Given the description of an element on the screen output the (x, y) to click on. 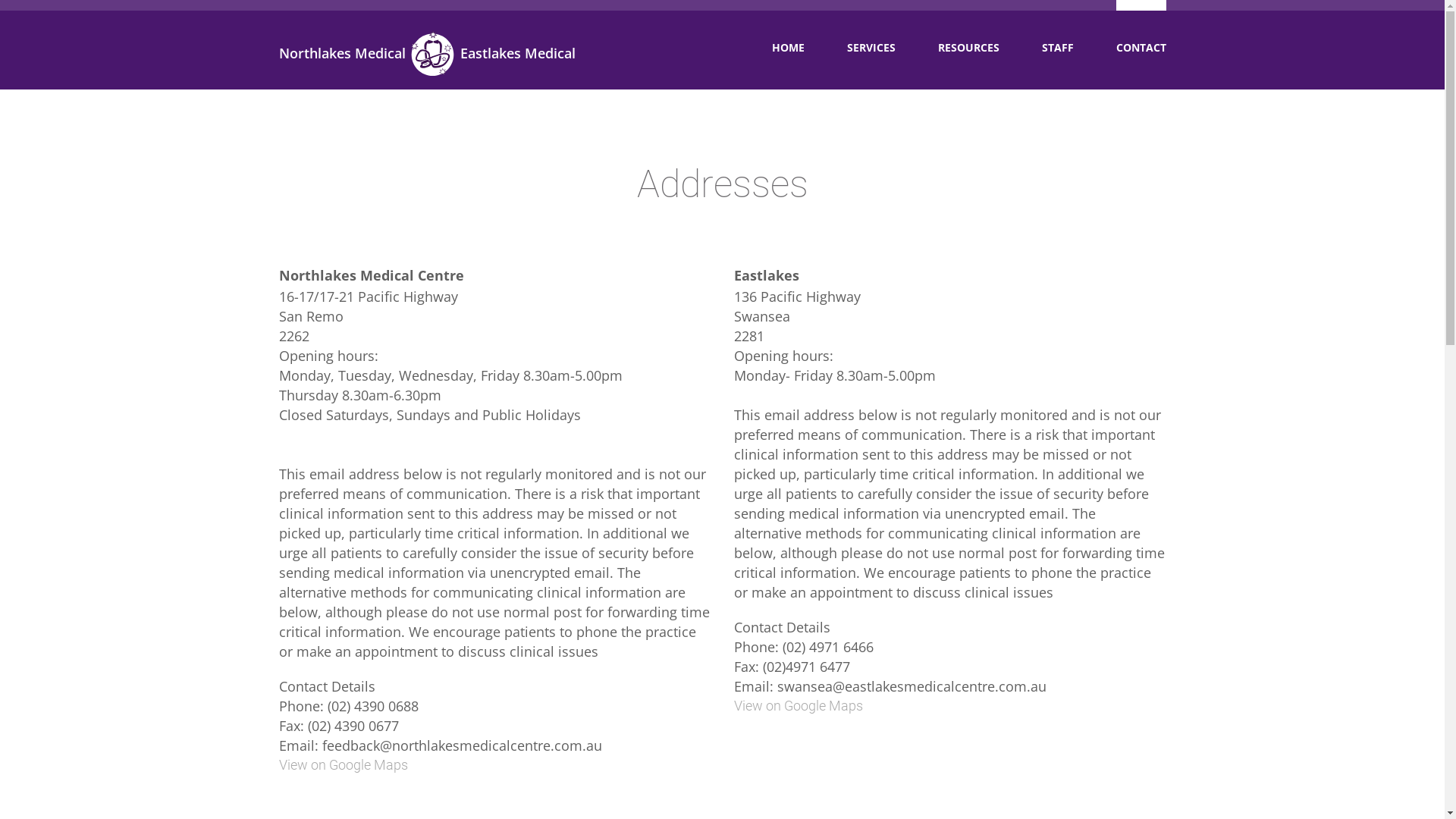
SERVICES Element type: text (870, 44)
CONTACT Element type: text (1141, 44)
(02) 4971 6466 Element type: text (827, 646)
Northlakes Medical Eastlakes Medical Element type: text (427, 59)
View on Google Maps Element type: text (798, 705)
RESOURCES Element type: text (967, 44)
swansea@eastlakesmedicalcentre.com.au Element type: text (910, 686)
STAFF Element type: text (1057, 44)
(02) 4390 0688 Element type: text (372, 705)
feedback@northlakesmedicalcentre.com.au Element type: text (461, 745)
View on Google Maps Element type: text (343, 764)
HOME Element type: text (787, 44)
